Given the description of an element on the screen output the (x, y) to click on. 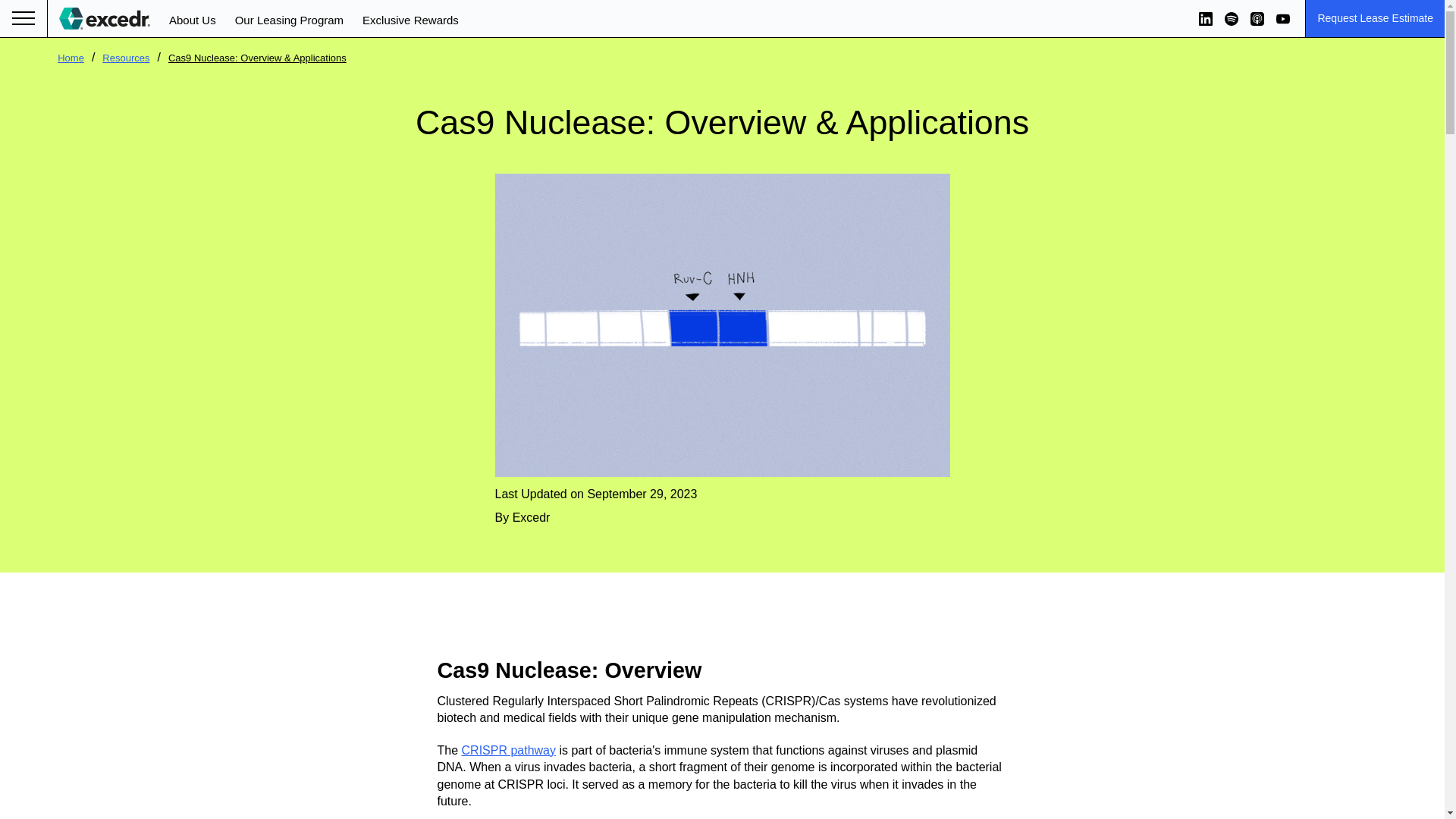
LinkedIn (1205, 18)
Apple Podcasts (1256, 18)
YouTube (1283, 18)
YouTube (1283, 18)
Spotify (1231, 18)
CRISPR pathway (508, 749)
Resources (125, 57)
Exclusive Rewards (410, 19)
Spotify (1231, 18)
Apple Podcasts (1256, 18)
Home (71, 57)
About Us (191, 19)
Our Leasing Program (288, 19)
LinkedIn (1205, 18)
